Given the description of an element on the screen output the (x, y) to click on. 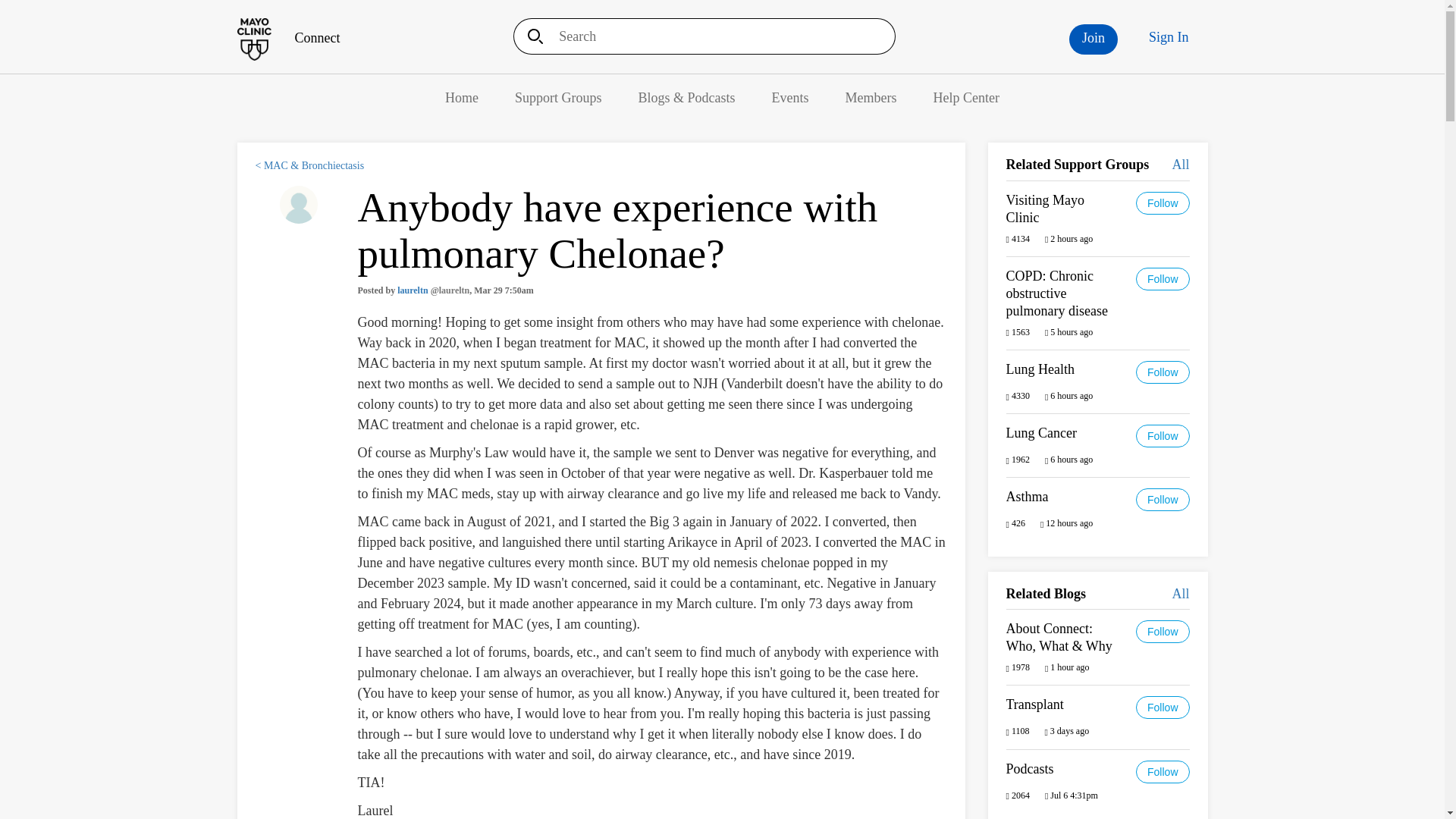
Help Center (965, 97)
Help Center (965, 97)
Members (870, 97)
Search (530, 36)
Connect (287, 37)
Sign In (1169, 37)
Home (462, 97)
Events (790, 97)
Members (870, 97)
Home (462, 97)
Home (287, 37)
Join (1093, 39)
Support Groups (558, 97)
Support Groups (558, 97)
Events (790, 97)
